Given the description of an element on the screen output the (x, y) to click on. 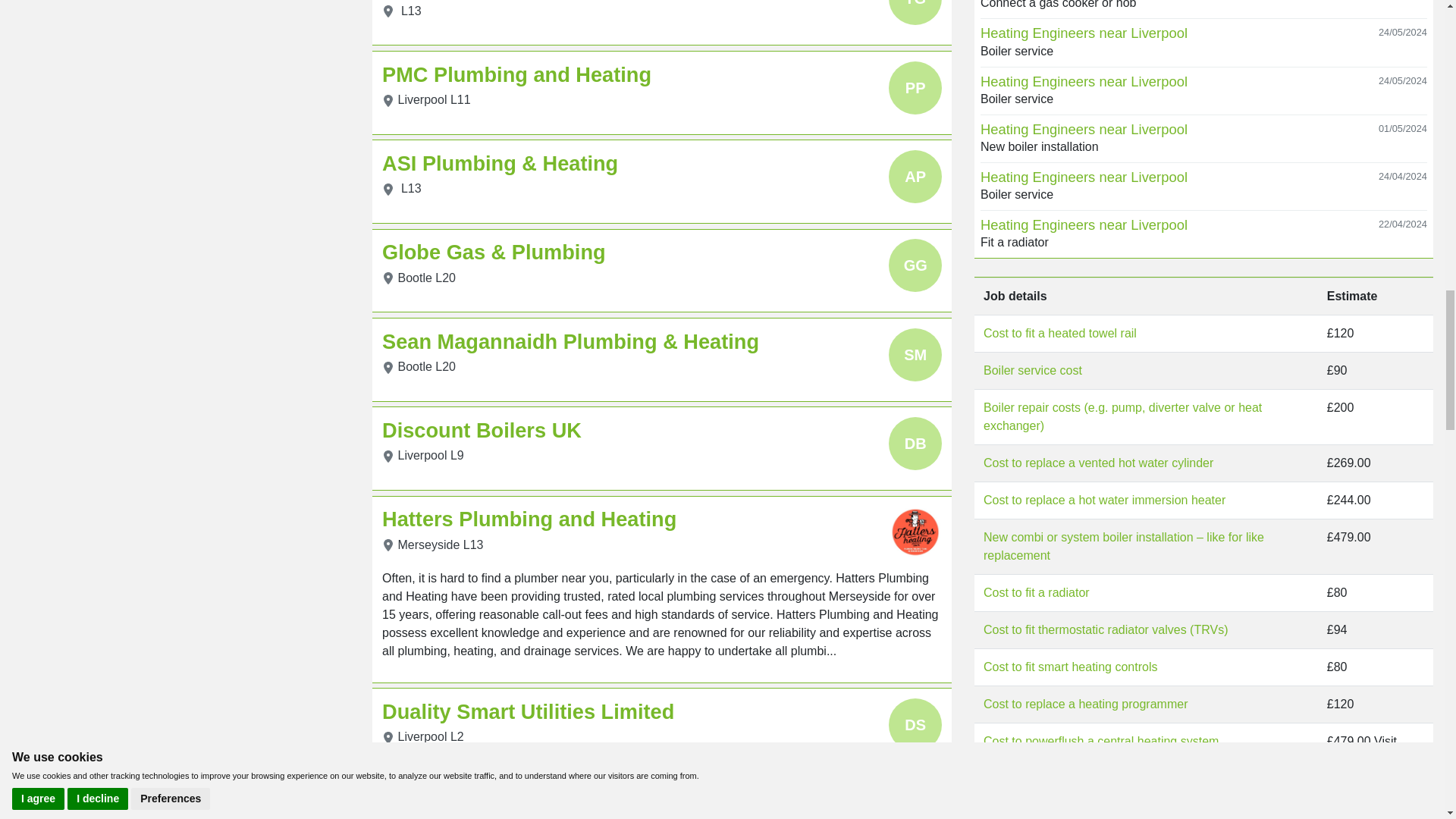
Boiler service cost (1032, 369)
Cost to replace a hot water immersion heater (1104, 499)
Cost to fit a heated towel rail (1060, 332)
Cost to replace a vented hot water cylinder (1098, 462)
Cost to fit a radiator (1036, 592)
